Given the description of an element on the screen output the (x, y) to click on. 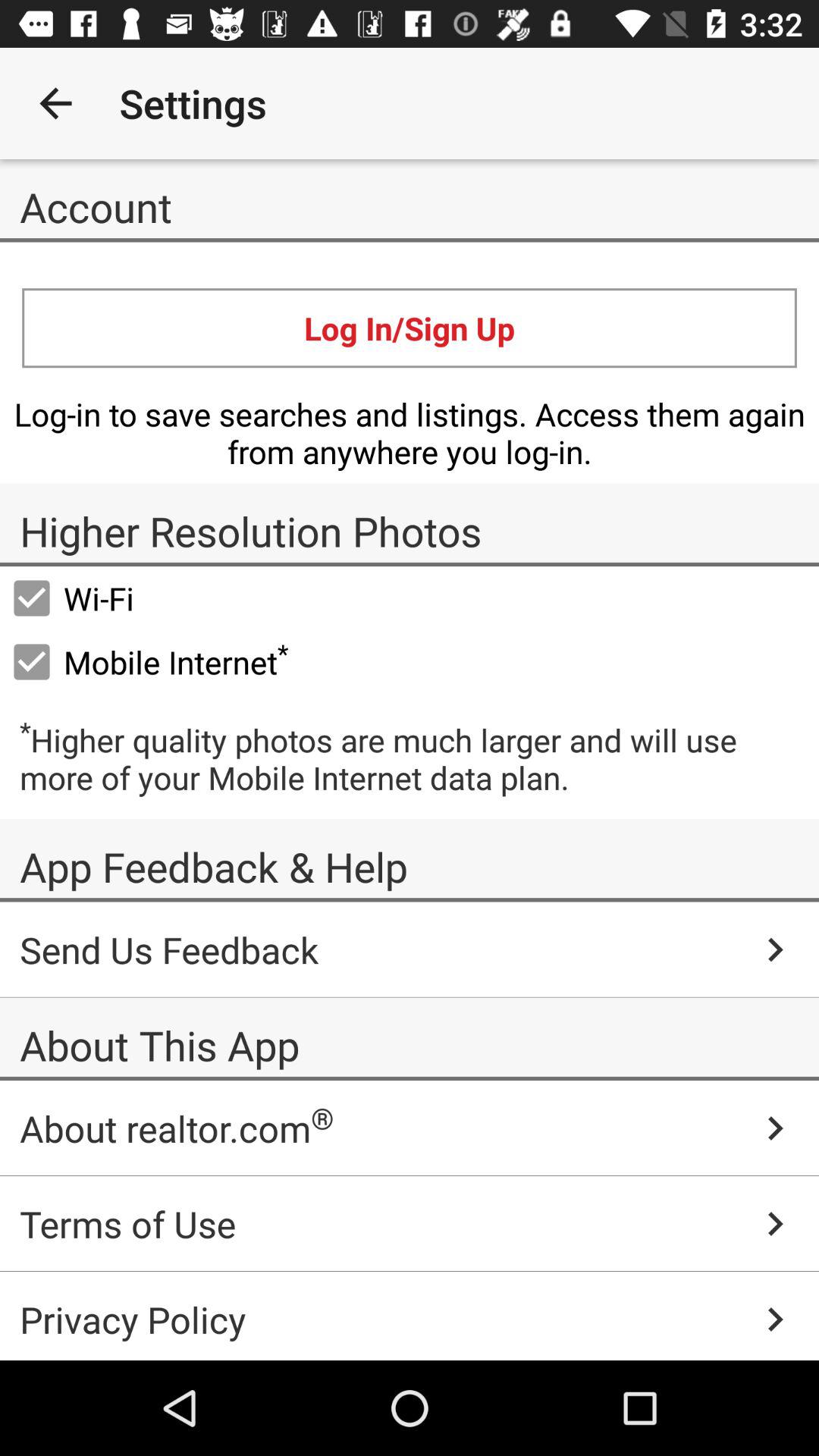
press the privacy policy (409, 1315)
